Given the description of an element on the screen output the (x, y) to click on. 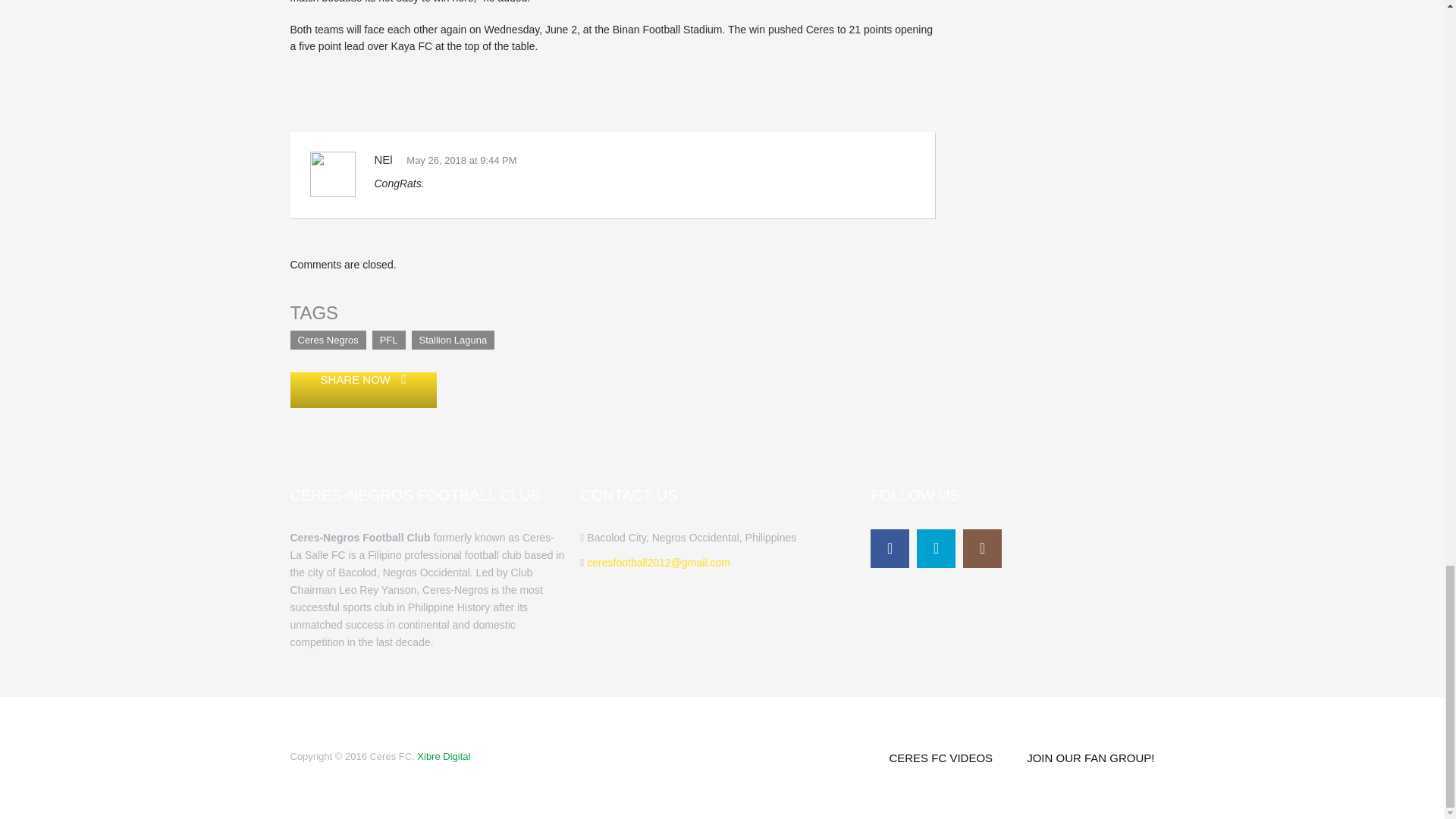
Stallion Laguna (453, 339)
Ceres Negros (327, 339)
PFL (389, 339)
SHARE NOW (362, 389)
